Given the description of an element on the screen output the (x, y) to click on. 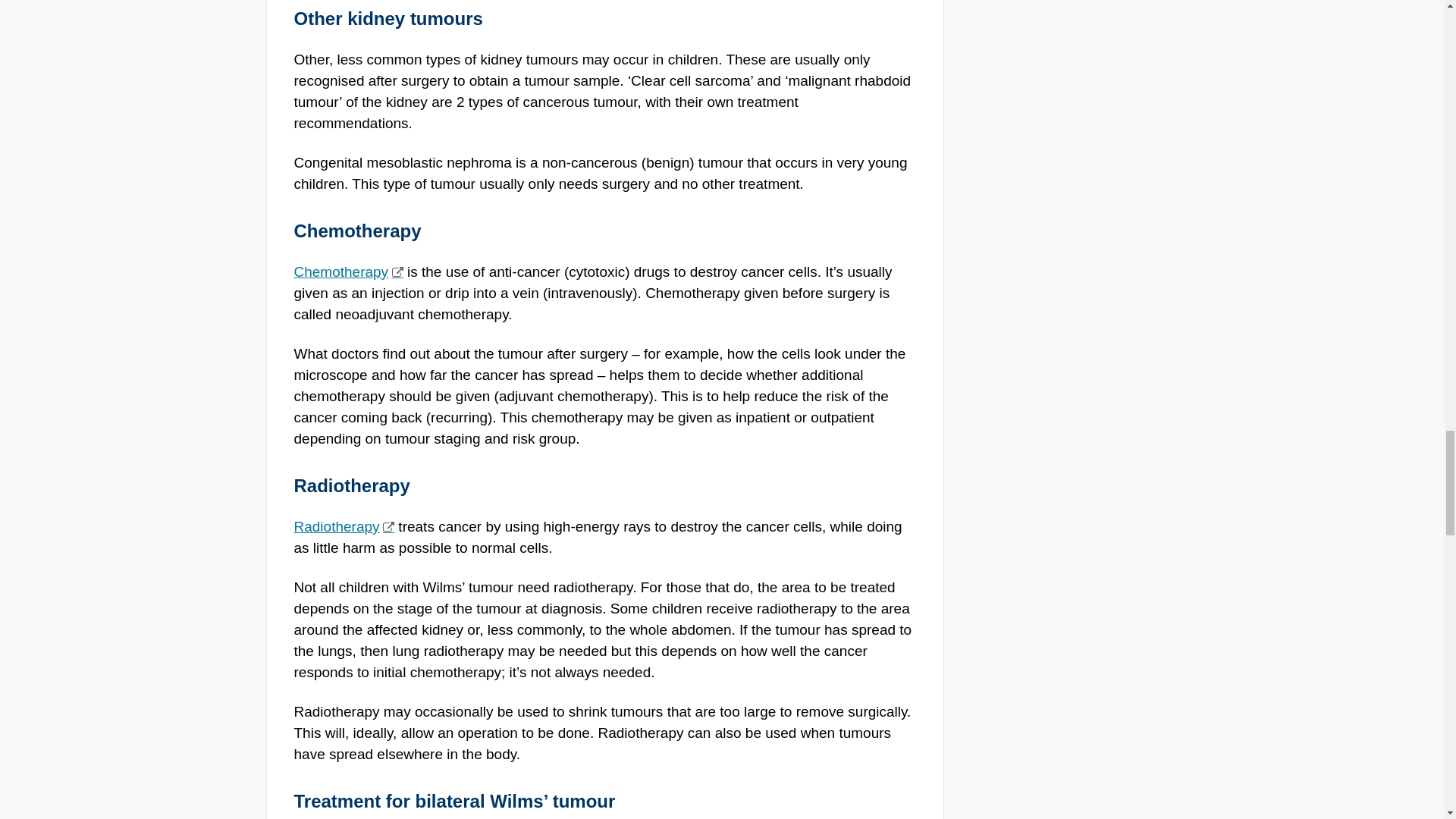
Chemotherapy (348, 271)
Radiotherapy (344, 526)
Chemotherapy (348, 271)
Radiotherapy (344, 526)
